Given the description of an element on the screen output the (x, y) to click on. 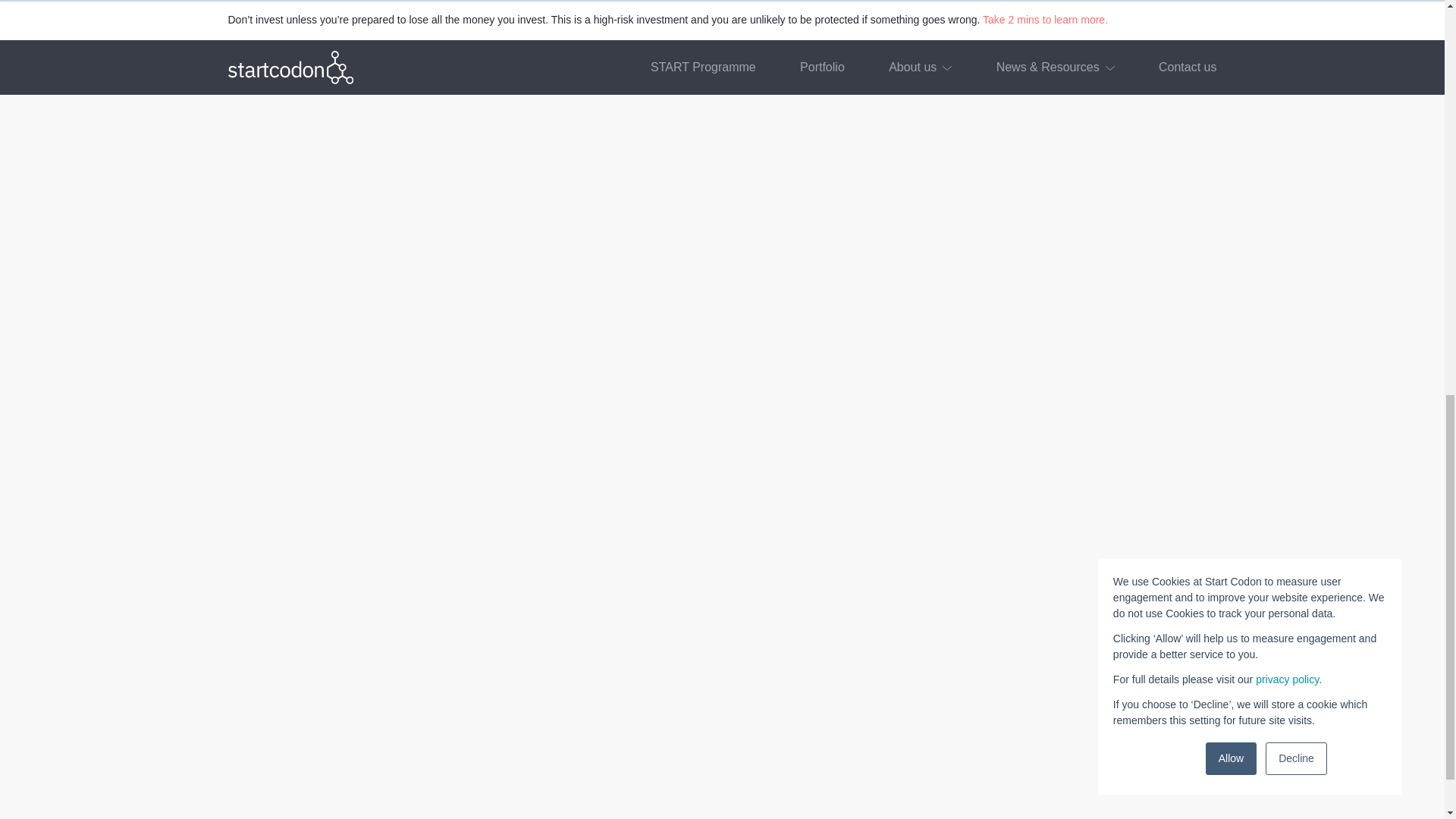
Resources (1012, 449)
News (1000, 427)
Contact us (1012, 471)
Twitter (258, 367)
Our team (1008, 383)
Back to top (1014, 295)
Privacy policy (1019, 494)
Portfolio (1006, 340)
Partners (1007, 406)
Linkedin (234, 370)
